Given the description of an element on the screen output the (x, y) to click on. 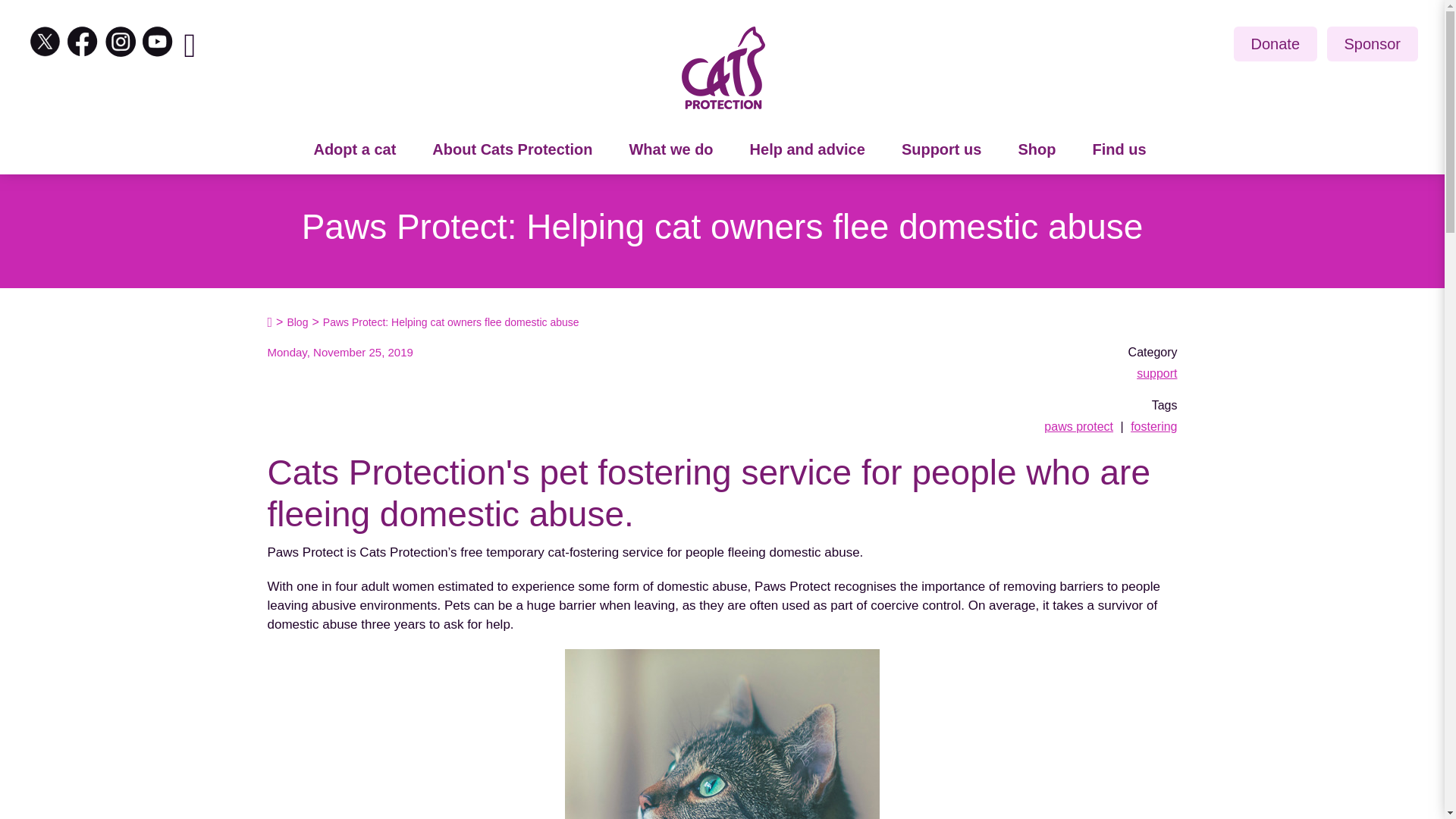
Tag: fostering (1153, 426)
Adopt a cat (354, 149)
Sponsor (1372, 43)
What we do (670, 149)
About Cats Protection (511, 149)
Category: support (1156, 373)
Help and advice (807, 149)
Tag: paws protect (1078, 426)
Donate (1275, 43)
